Given the description of an element on the screen output the (x, y) to click on. 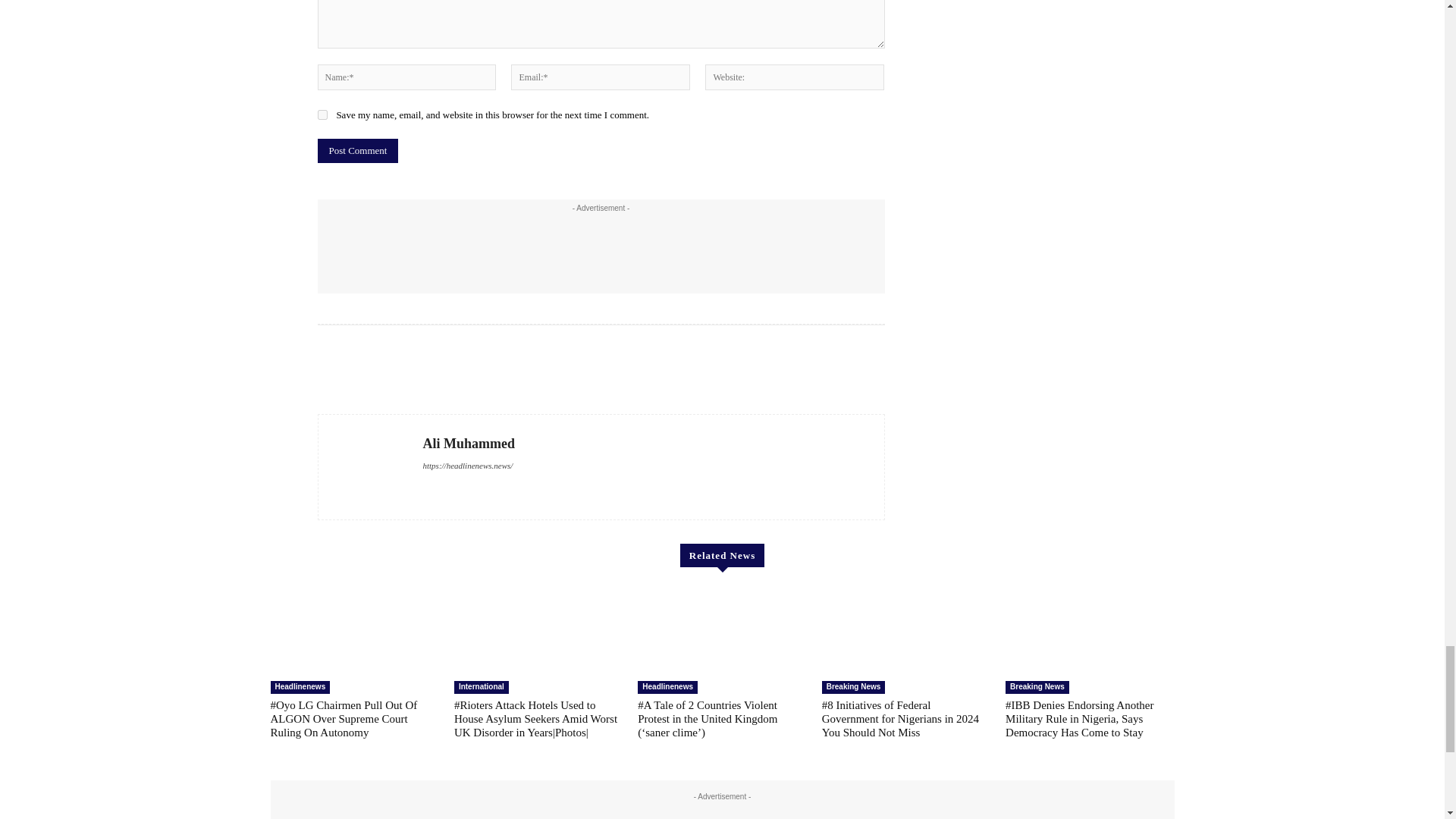
Post Comment (357, 150)
yes (321, 114)
